Given the description of an element on the screen output the (x, y) to click on. 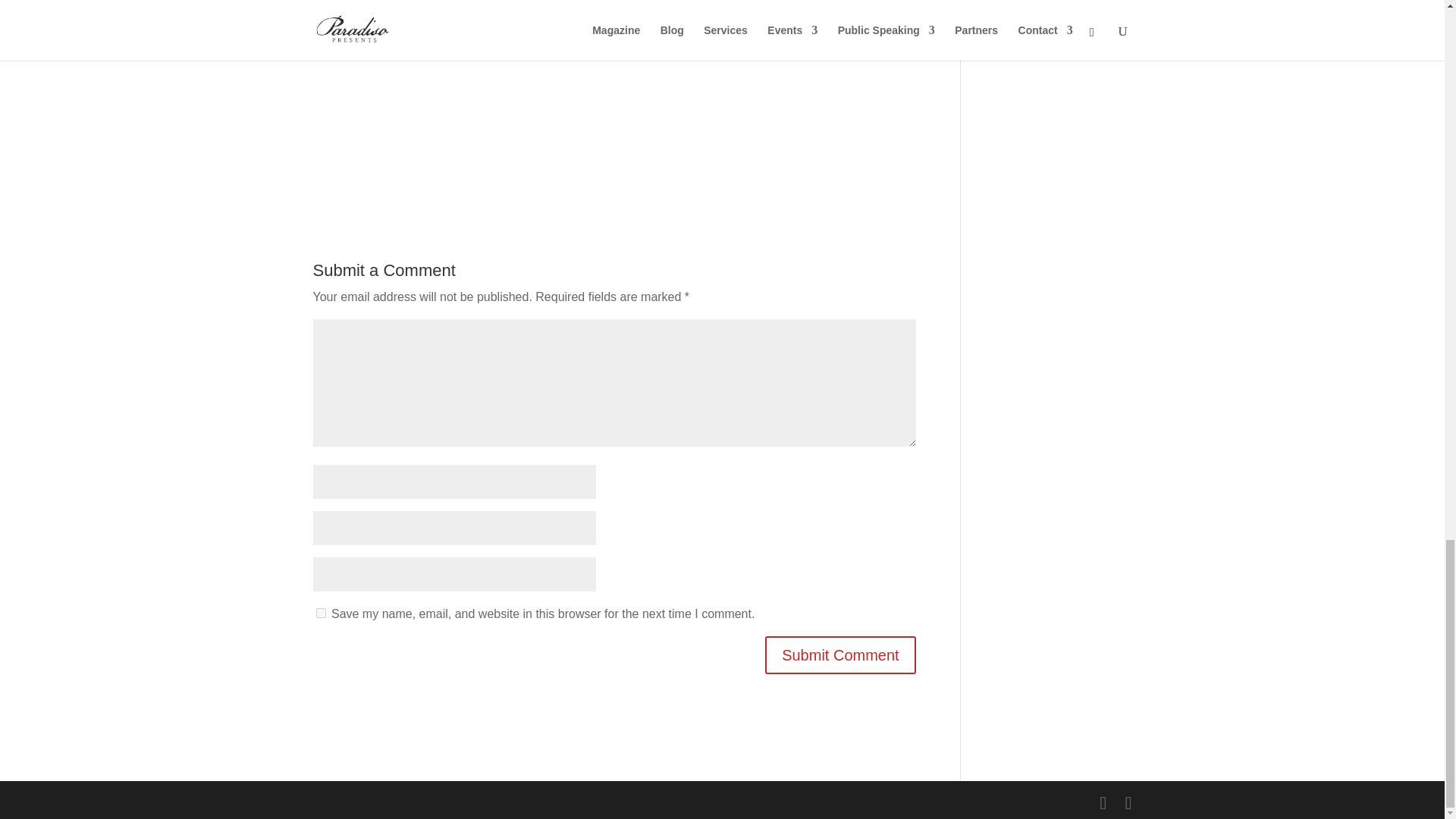
yes (319, 613)
Submit Comment (840, 655)
Submit Comment (840, 655)
